Given the description of an element on the screen output the (x, y) to click on. 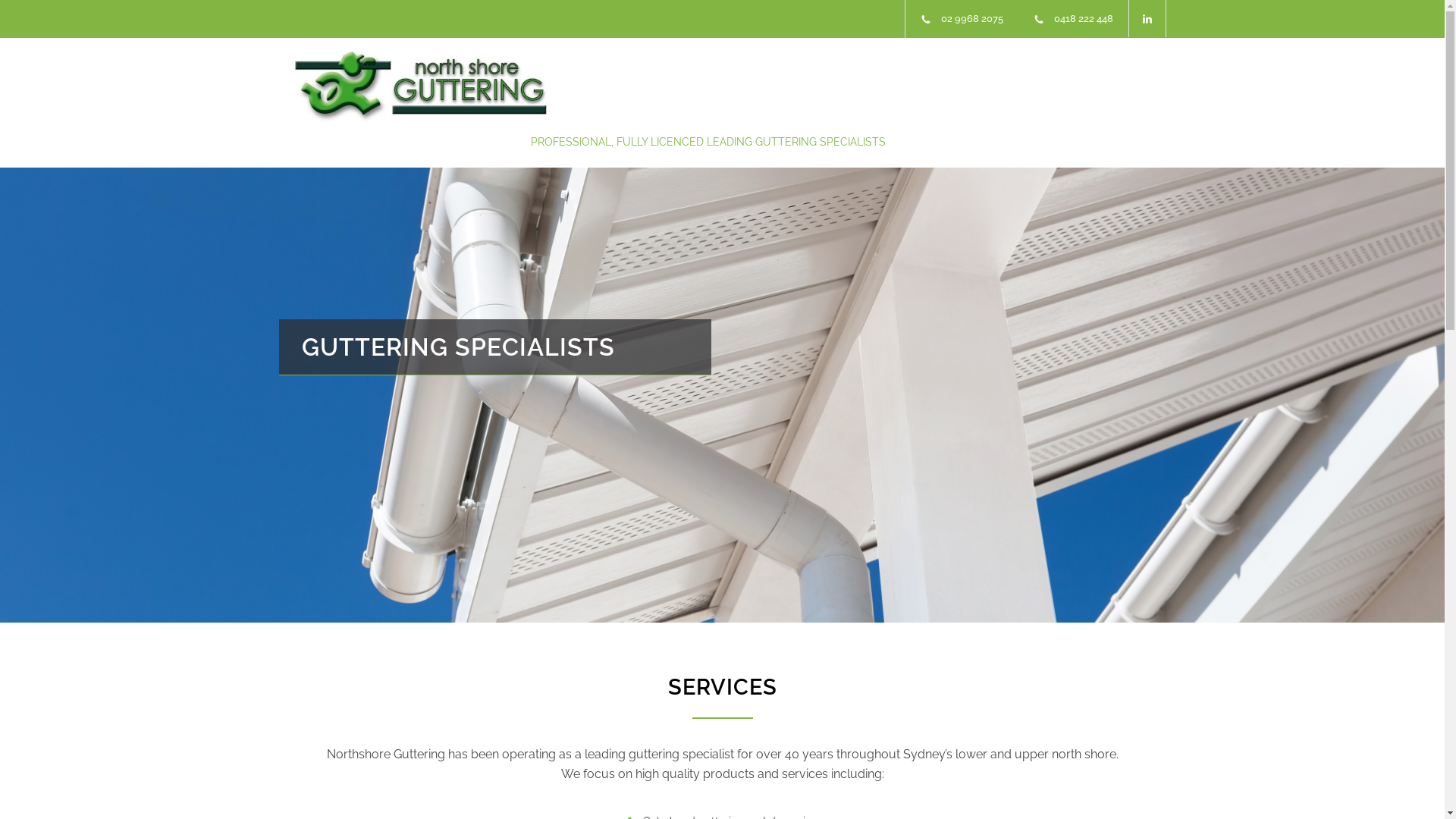
0418 222 448 Element type: text (1083, 18)
Northshore Guttering Element type: hover (419, 84)
PROFESSIONAL, FULLY LICENCED LEADING GUTTERING SPECIALISTS Element type: text (707, 141)
02 9968 2075 Element type: text (971, 18)
